Given the description of an element on the screen output the (x, y) to click on. 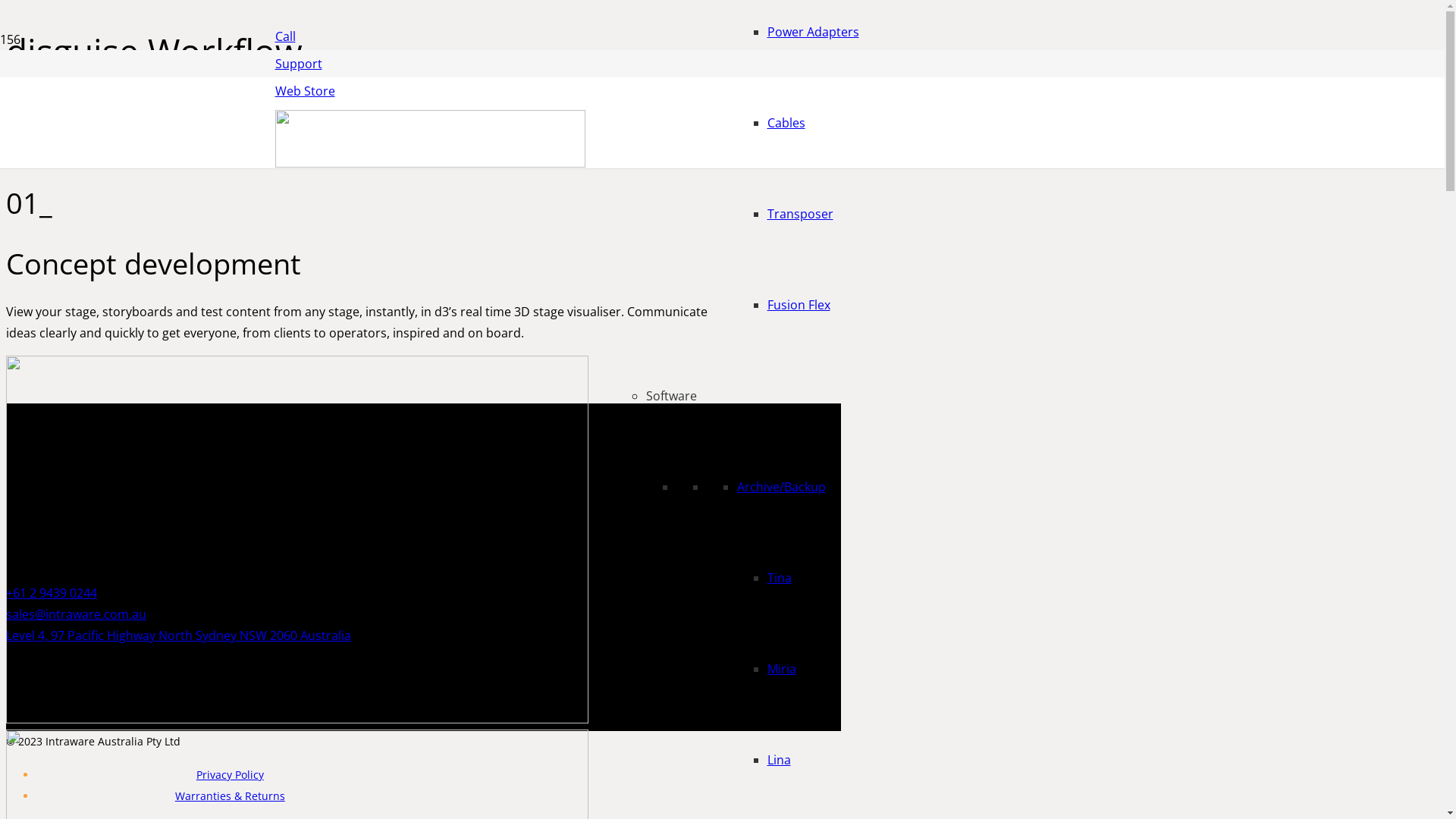
Cables Element type: text (786, 122)
Warranties & Returns Element type: text (230, 795)
Fusion Flex Element type: text (798, 304)
Lina Element type: text (778, 759)
Call Element type: text (284, 36)
Privacy Policy Element type: text (229, 774)
Miria Element type: text (781, 668)
Tina Element type: text (779, 577)
Level 4, 97 Pacific Highway North Sydney NSW 2060 Australia Element type: text (214, 635)
sales@intraware.com.au Element type: text (214, 613)
Archive/Backup Element type: text (781, 486)
Power Adapters Element type: text (813, 31)
Web Store Element type: text (304, 90)
Software Element type: text (671, 395)
+61 2 9439 0244 Element type: text (214, 592)
Support Element type: text (297, 63)
Transposer Element type: text (800, 213)
